Given the description of an element on the screen output the (x, y) to click on. 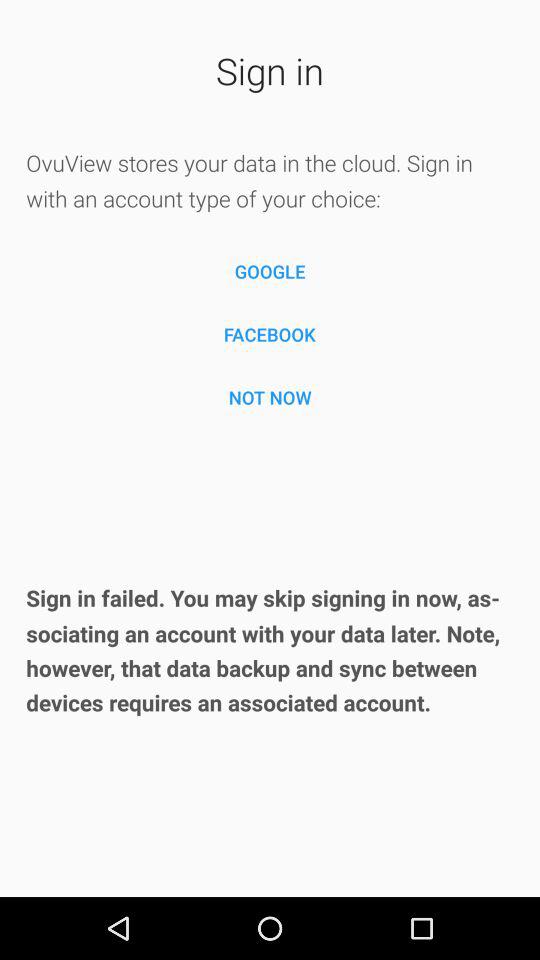
open item below the facebook item (269, 397)
